Given the description of an element on the screen output the (x, y) to click on. 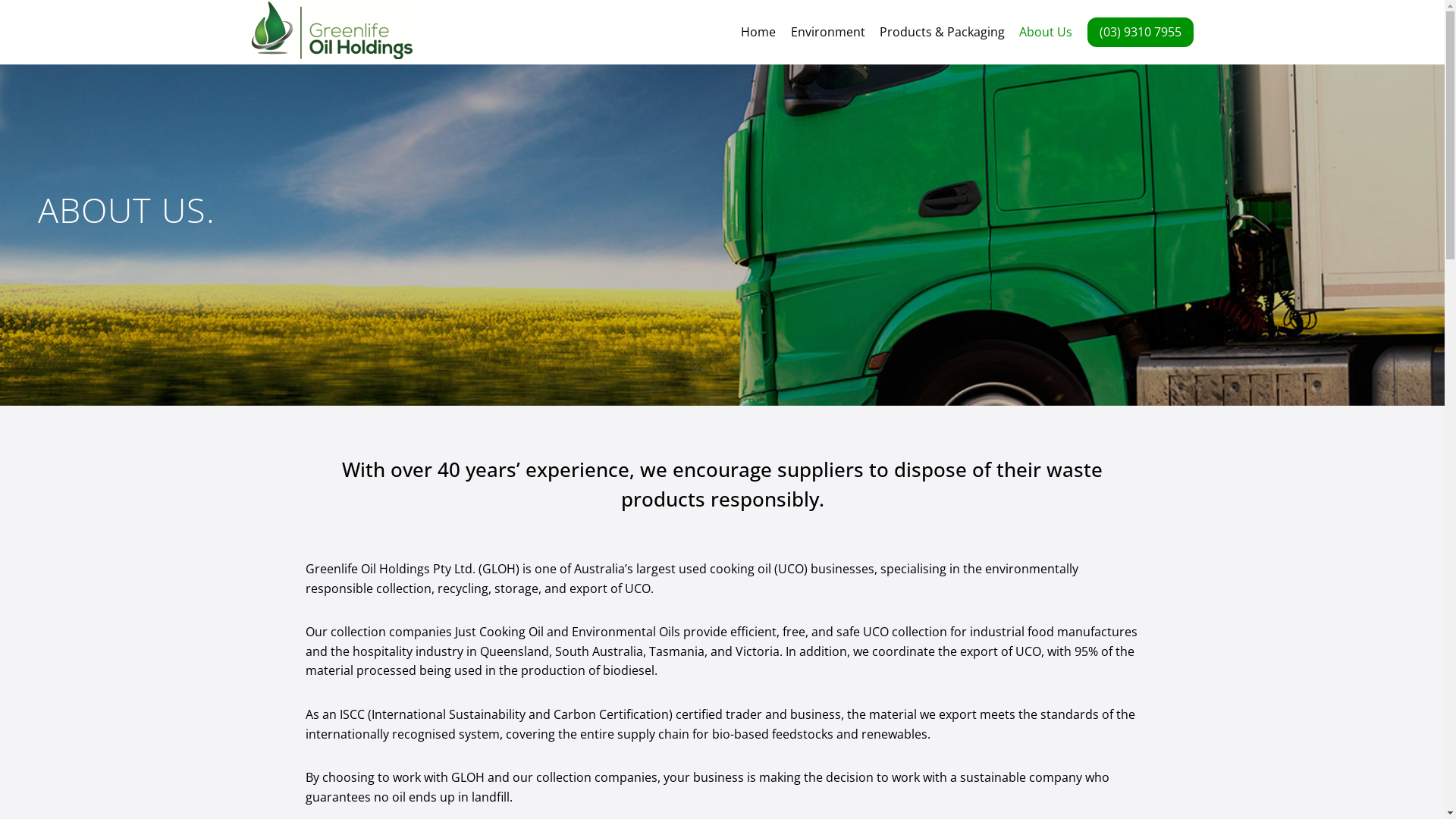
Products & Packaging Element type: text (941, 32)
About Us Element type: text (1045, 32)
Environment Element type: text (827, 32)
Home Element type: text (758, 32)
(03) 9310 7955 Element type: text (1140, 31)
